Given the description of an element on the screen output the (x, y) to click on. 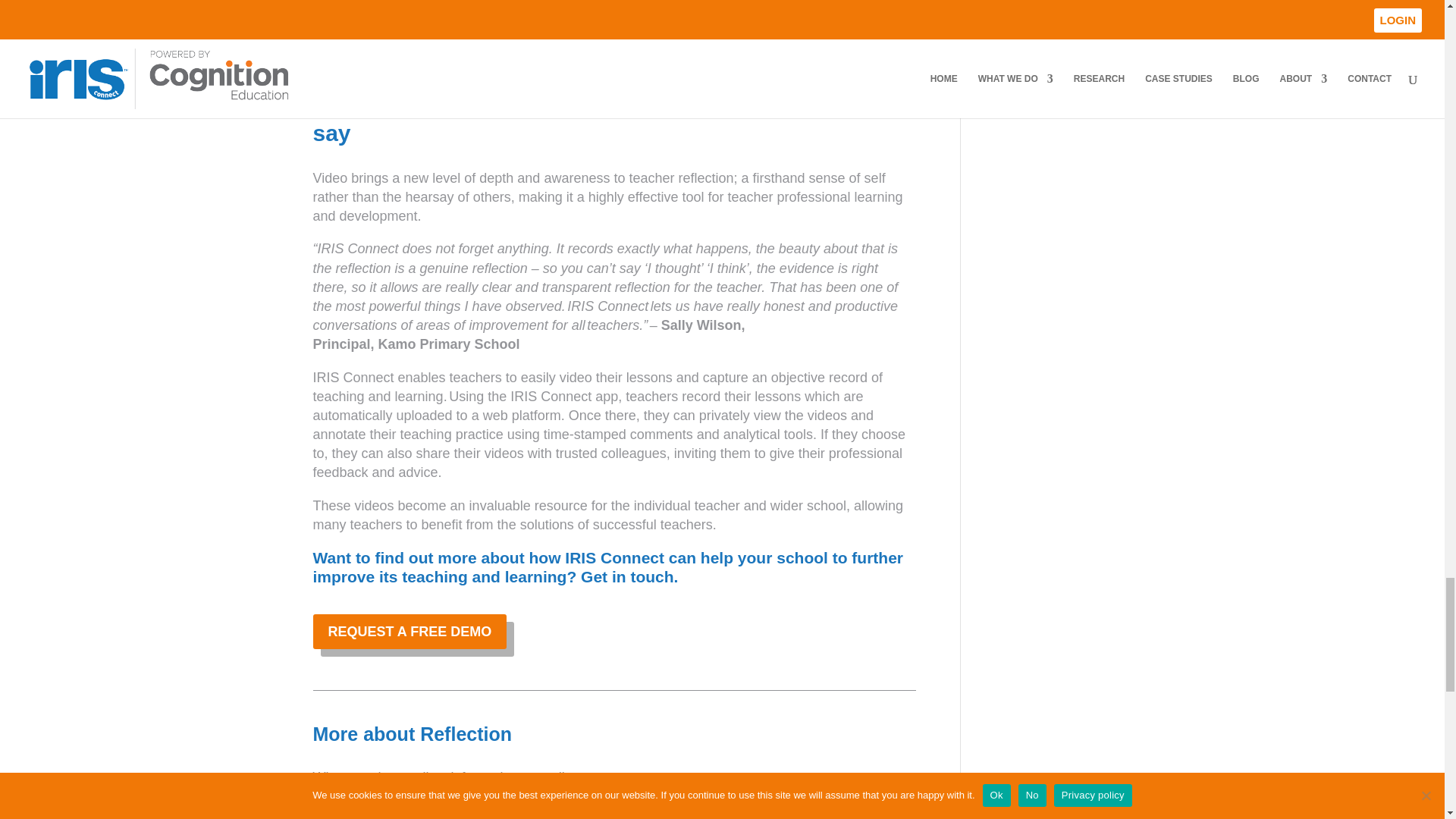
REQUEST A FREE DEMO (409, 631)
